Given the description of an element on the screen output the (x, y) to click on. 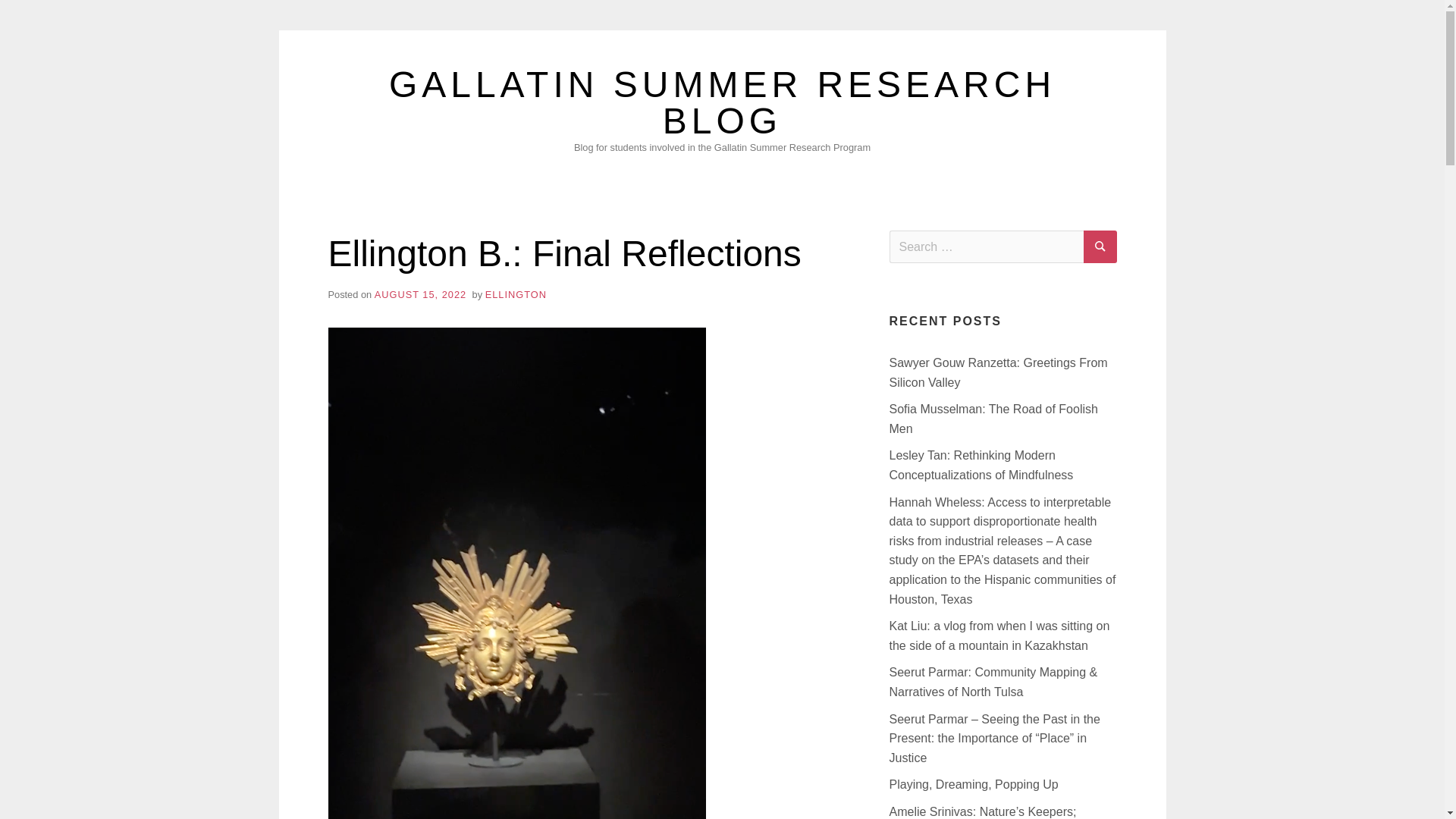
Sawyer Gouw Ranzetta: Greetings From Silicon Valley (997, 372)
Sofia Musselman: The Road of Foolish Men (992, 418)
Playing, Dreaming, Popping Up (973, 784)
Search (1099, 246)
GALLATIN SUMMER RESEARCH BLOG (721, 102)
ELLINGTON (515, 294)
AUGUST 15, 2022 (419, 294)
